Given the description of an element on the screen output the (x, y) to click on. 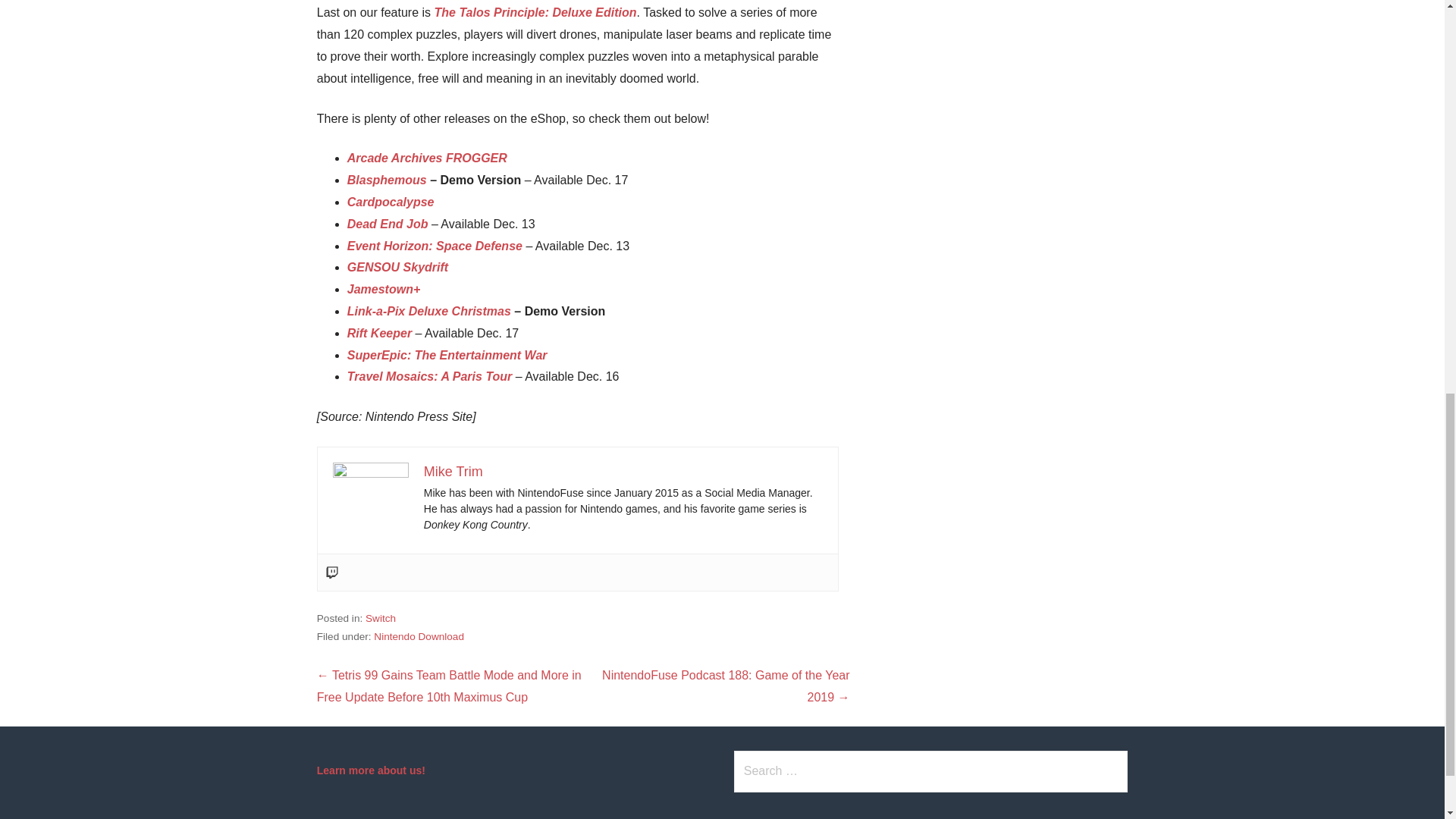
Twitch (331, 572)
Dead End Job (387, 223)
SuperEpic: The Entertainment War (447, 354)
Learn more about us! (371, 770)
Cardpocalypse (390, 201)
Switch (380, 618)
Link-a-Pix Deluxe Christmas (429, 310)
Mike Trim (453, 471)
Event Horizon: Space Defense (434, 245)
GENSOU Skydrift (397, 267)
Arcade Archives FROGGER (426, 157)
Rift Keeper (379, 332)
The Talos Principle: Deluxe Edition (535, 11)
Travel Mosaics: A Paris Tour (429, 376)
Nintendo Download (419, 636)
